Given the description of an element on the screen output the (x, y) to click on. 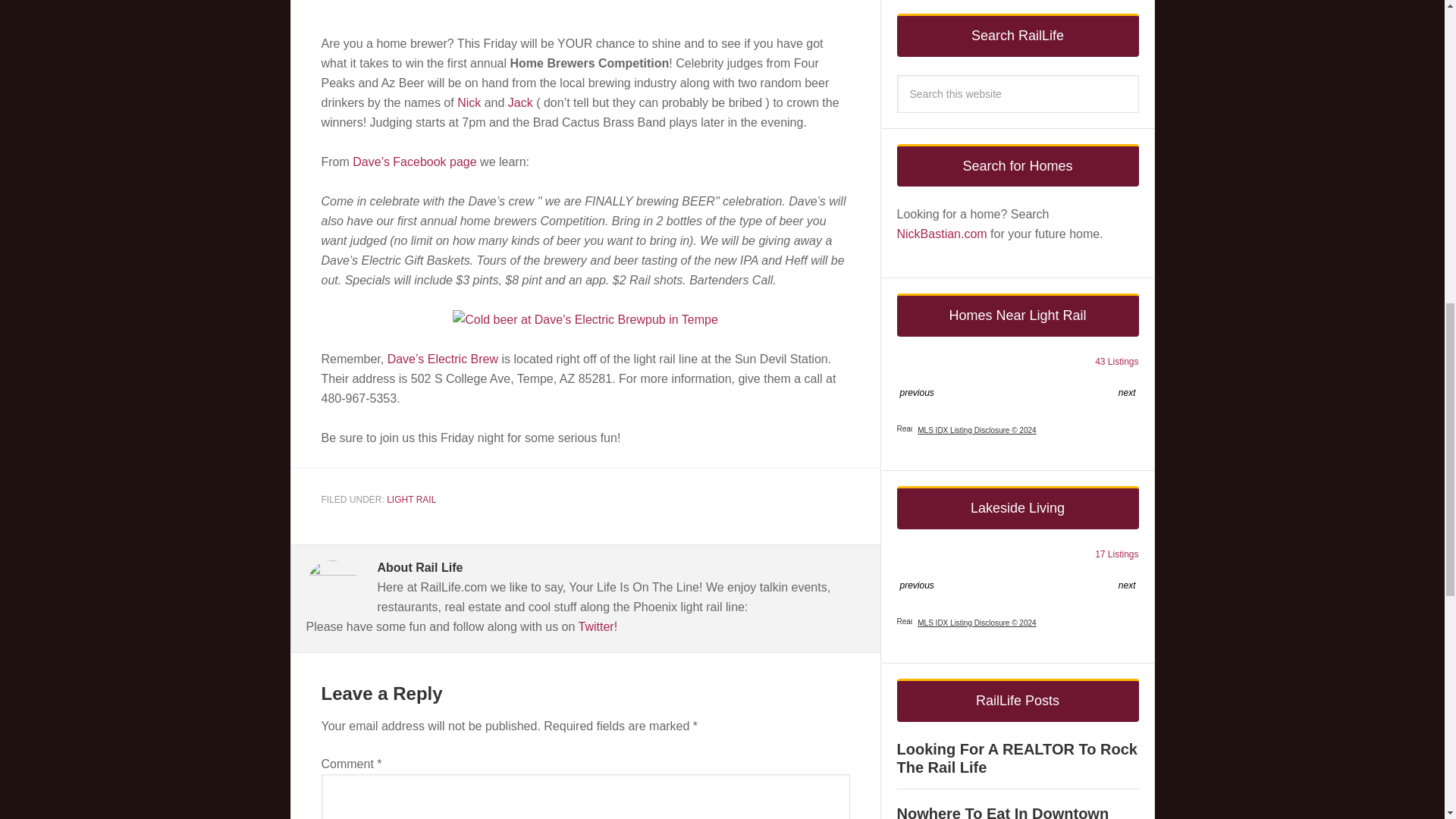
Twitter! (597, 626)
43 Listings (1116, 361)
Nick (468, 102)
NickBastian.com (943, 233)
Jack (520, 102)
LIGHT RAIL (411, 499)
